Given the description of an element on the screen output the (x, y) to click on. 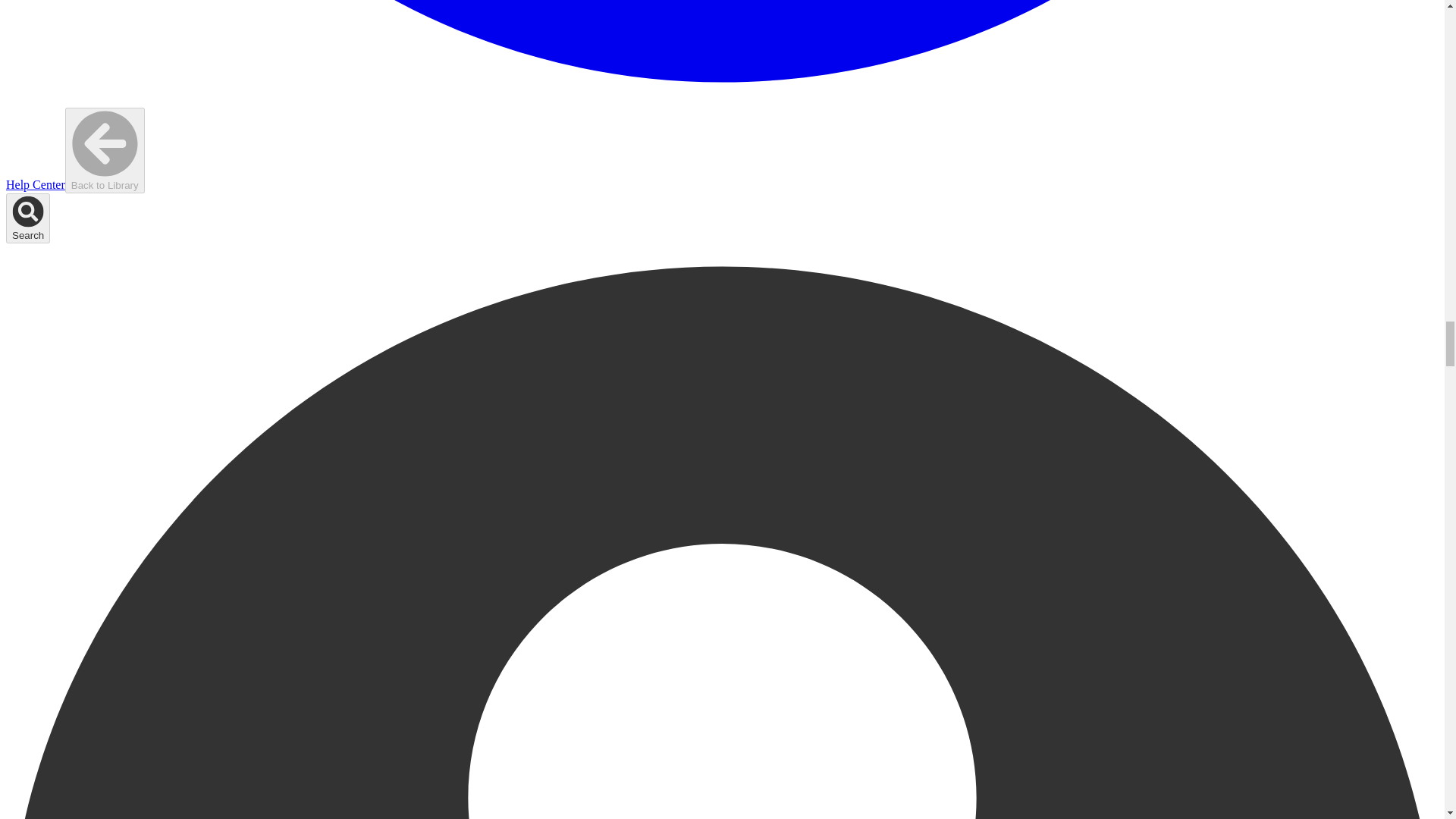
Back to Library (104, 150)
